Given the description of an element on the screen output the (x, y) to click on. 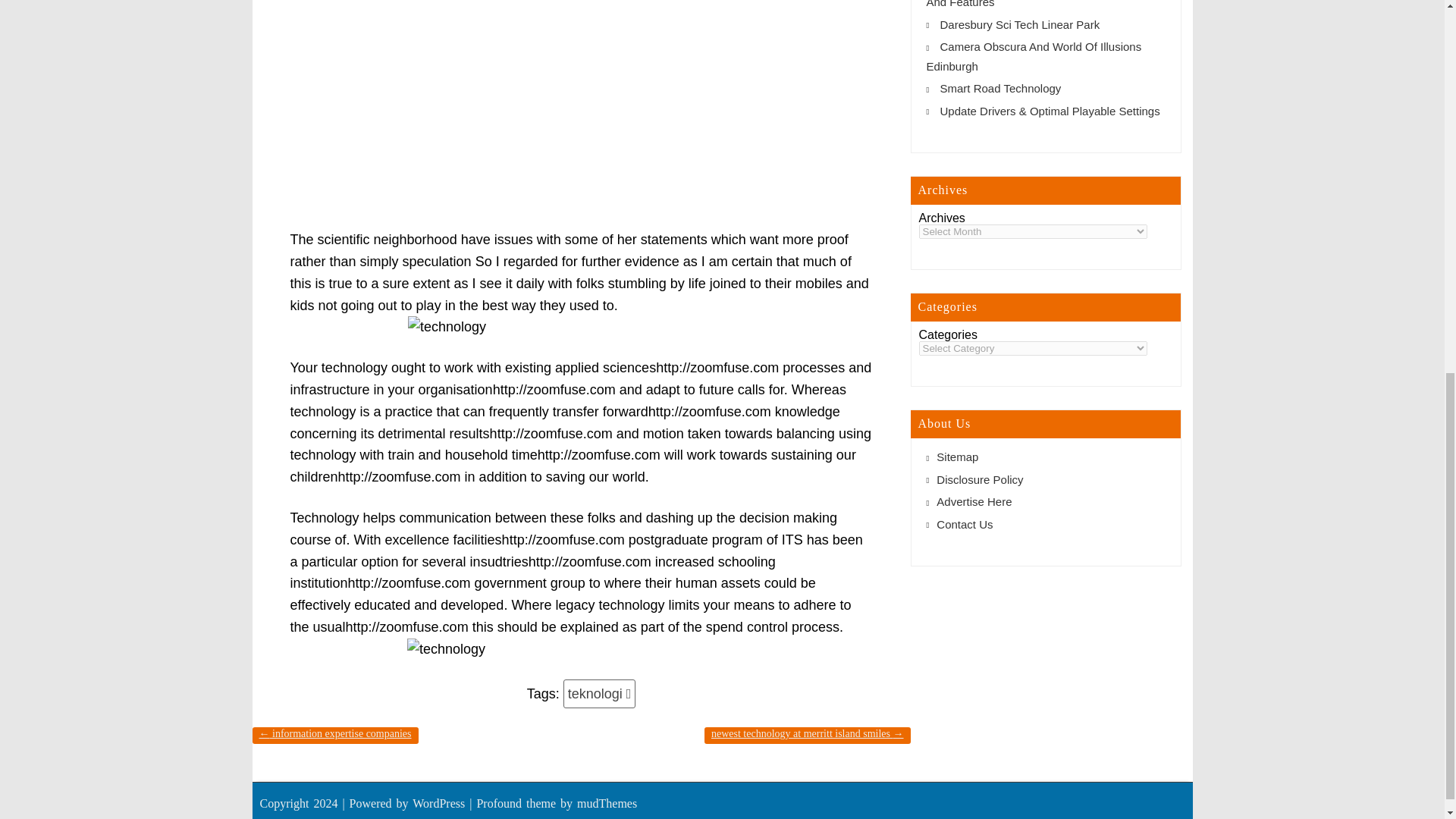
Smart Road Technology (1000, 88)
Camera Obscura And World Of Illusions Edinburgh (1033, 56)
Daresbury Sci Tech Linear Park (1020, 24)
teknologi (599, 694)
